Given the description of an element on the screen output the (x, y) to click on. 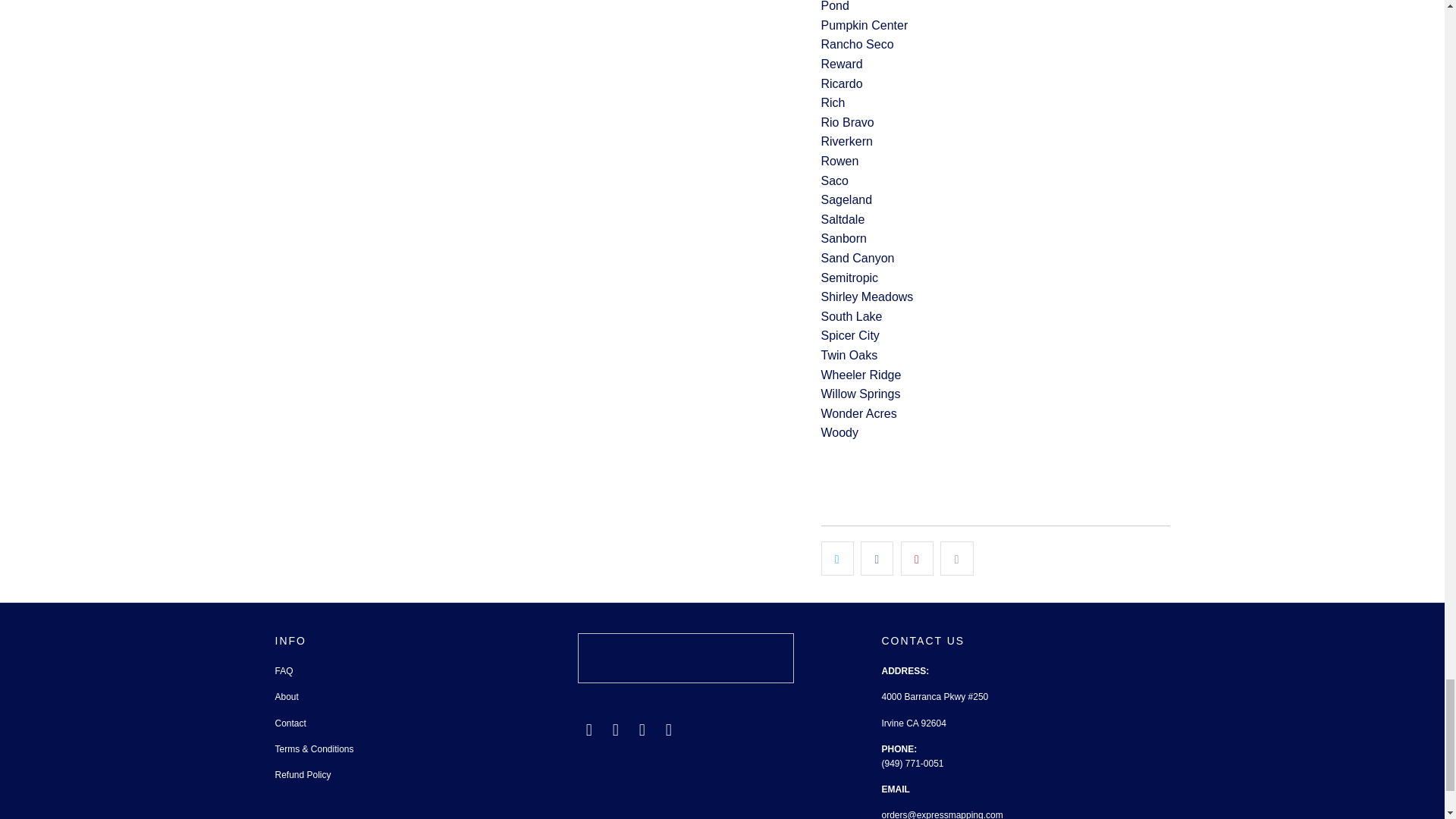
Email this to a friend (956, 558)
Share this on Facebook (876, 558)
Email Express Mapping (588, 730)
Express Mapping on Facebook (616, 730)
Share this on Pinterest (917, 558)
Share this on Twitter (837, 558)
